Given the description of an element on the screen output the (x, y) to click on. 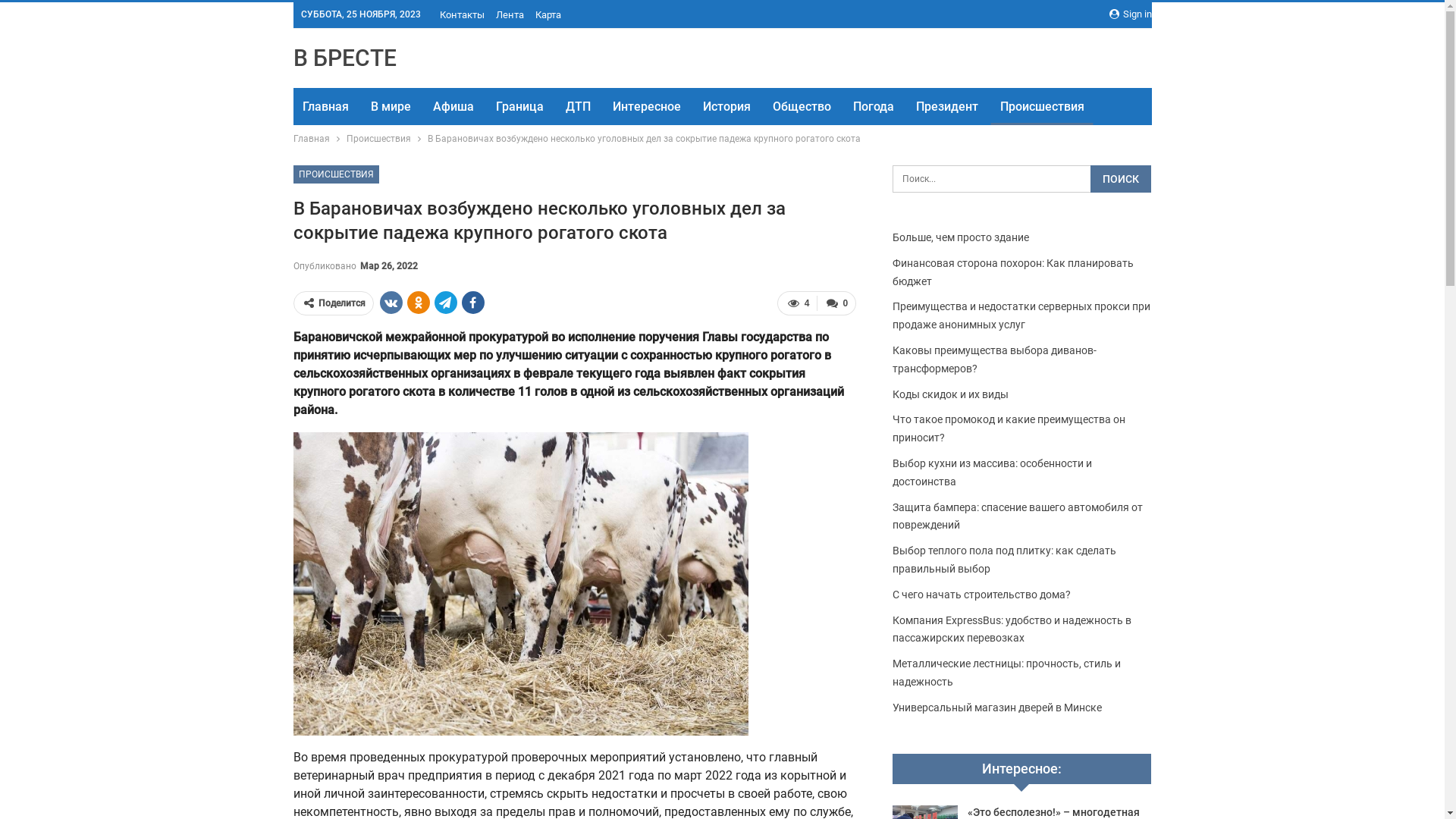
0 Element type: text (836, 303)
Sign in Element type: text (1129, 14)
